Given the description of an element on the screen output the (x, y) to click on. 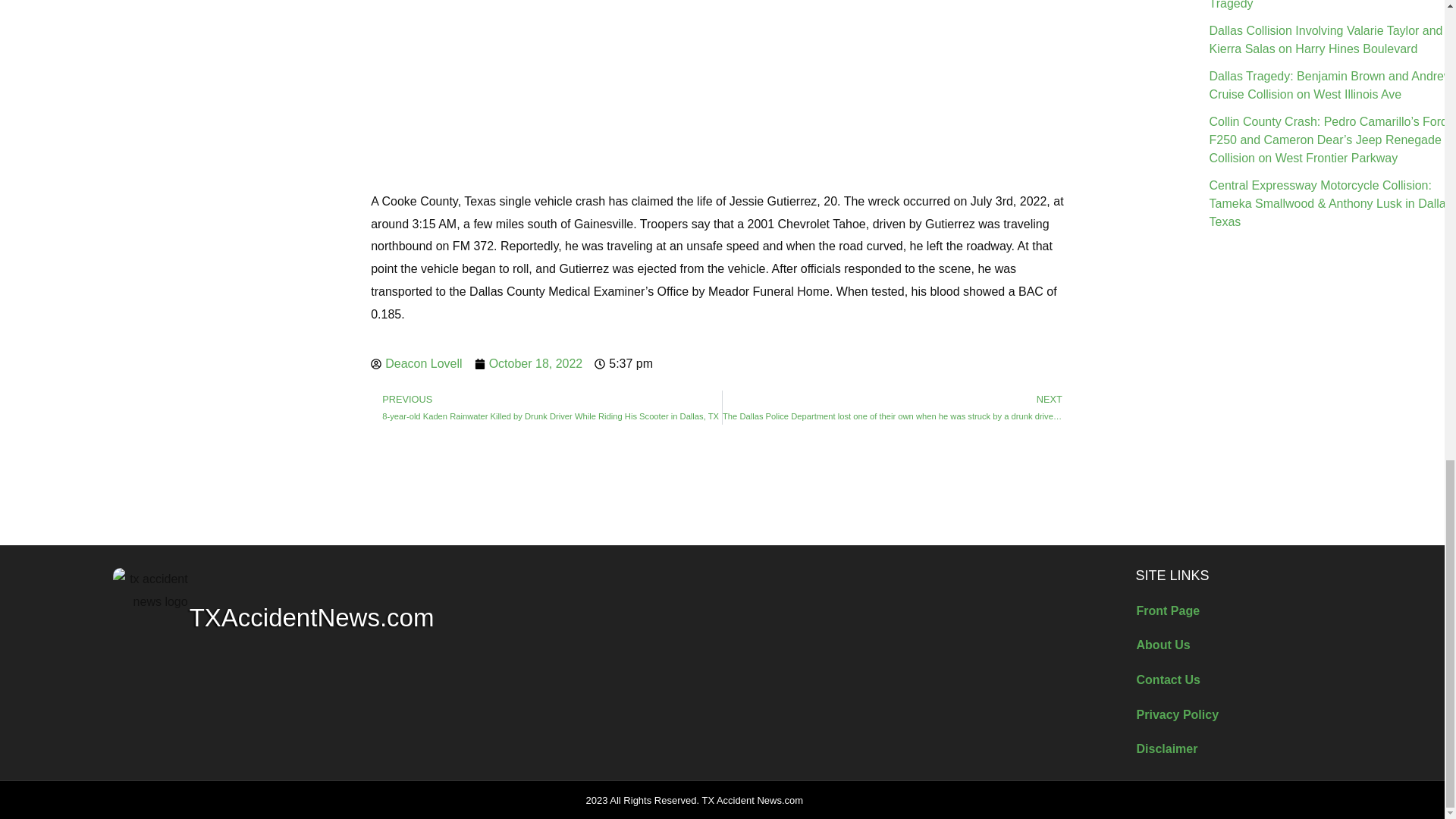
Deacon Lovell (416, 363)
October 18, 2022 (528, 363)
